Given the description of an element on the screen output the (x, y) to click on. 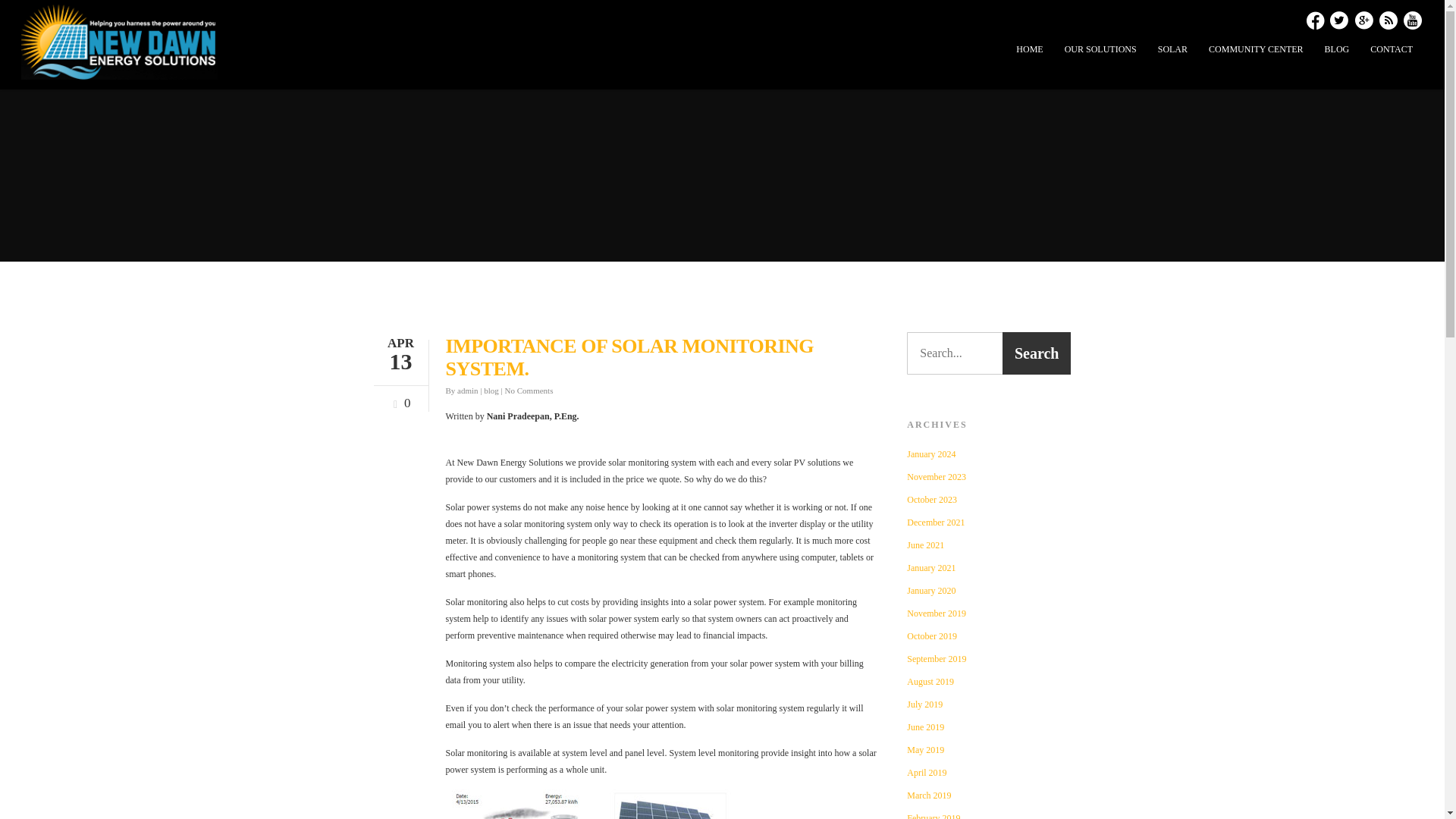
COMMUNITY CENTER (1255, 51)
August 2019 (988, 681)
September 2019 (988, 658)
OUR SOLUTIONS (1100, 51)
November 2023 (988, 476)
blog (491, 389)
January 2021 (988, 567)
admin (468, 389)
April 2019 (988, 772)
March 2019 (988, 795)
November 2019 (988, 613)
0 (398, 399)
February 2019 (988, 814)
Love this (398, 399)
January 2020 (988, 590)
